Given the description of an element on the screen output the (x, y) to click on. 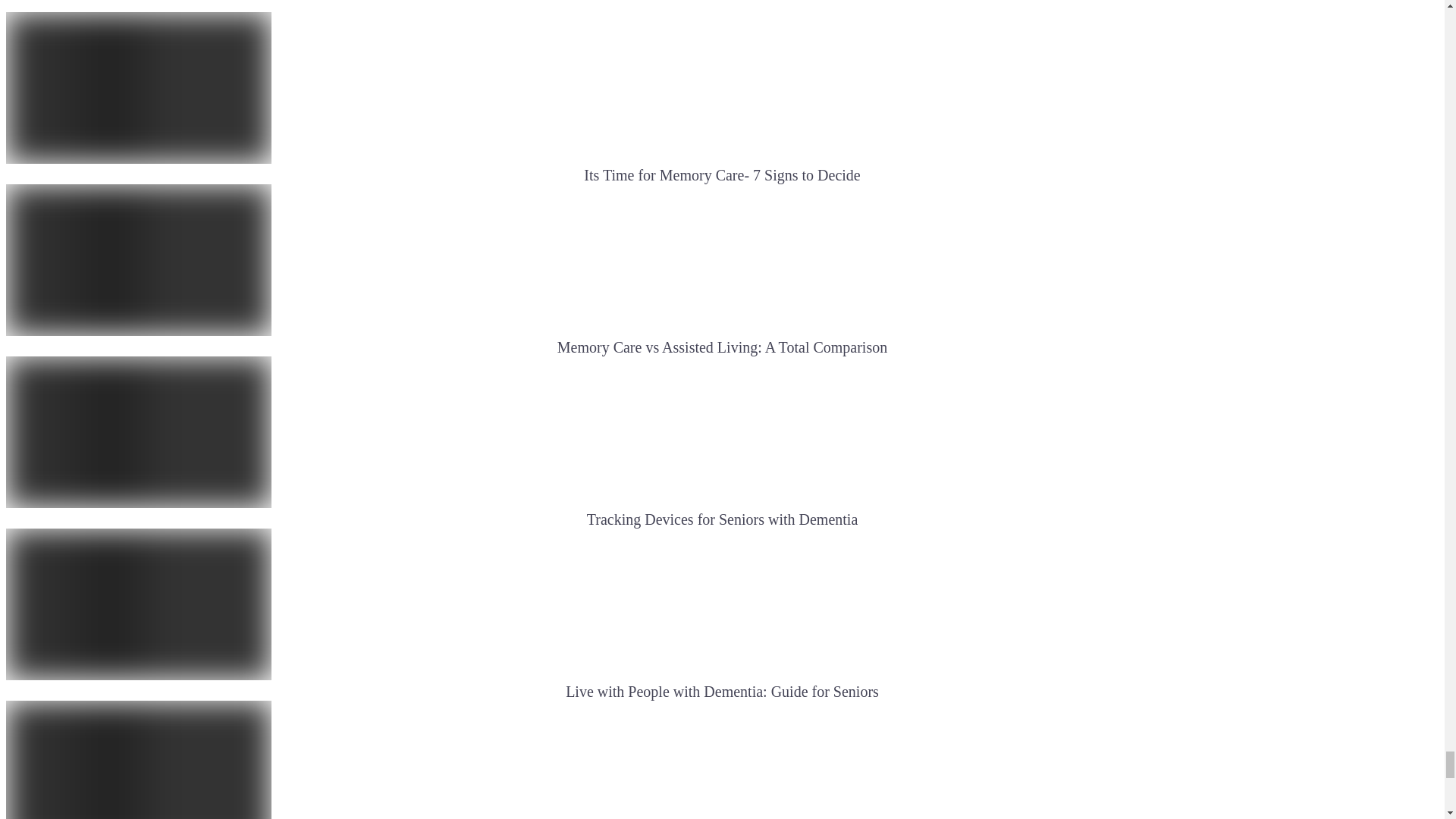
Prevent Falls in Dementia Patients: 7 Effective Tips (137, 760)
Memory Care vs Assisted Living: A Total Comparison (721, 347)
Tracking Devices for Seniors with Dementia (722, 519)
Its Time for Memory Care- 7 Signs to Decide (137, 87)
Tracking Devices for Seniors with Dementia (137, 431)
Memory Care vs Assisted Living: A Total Comparison (137, 259)
Live with People with Dementia: Guide for Seniors (137, 604)
Live with People with Dementia: Guide for Seniors (722, 691)
Its Time for Memory Care- 7 Signs to Decide (721, 175)
